Given the description of an element on the screen output the (x, y) to click on. 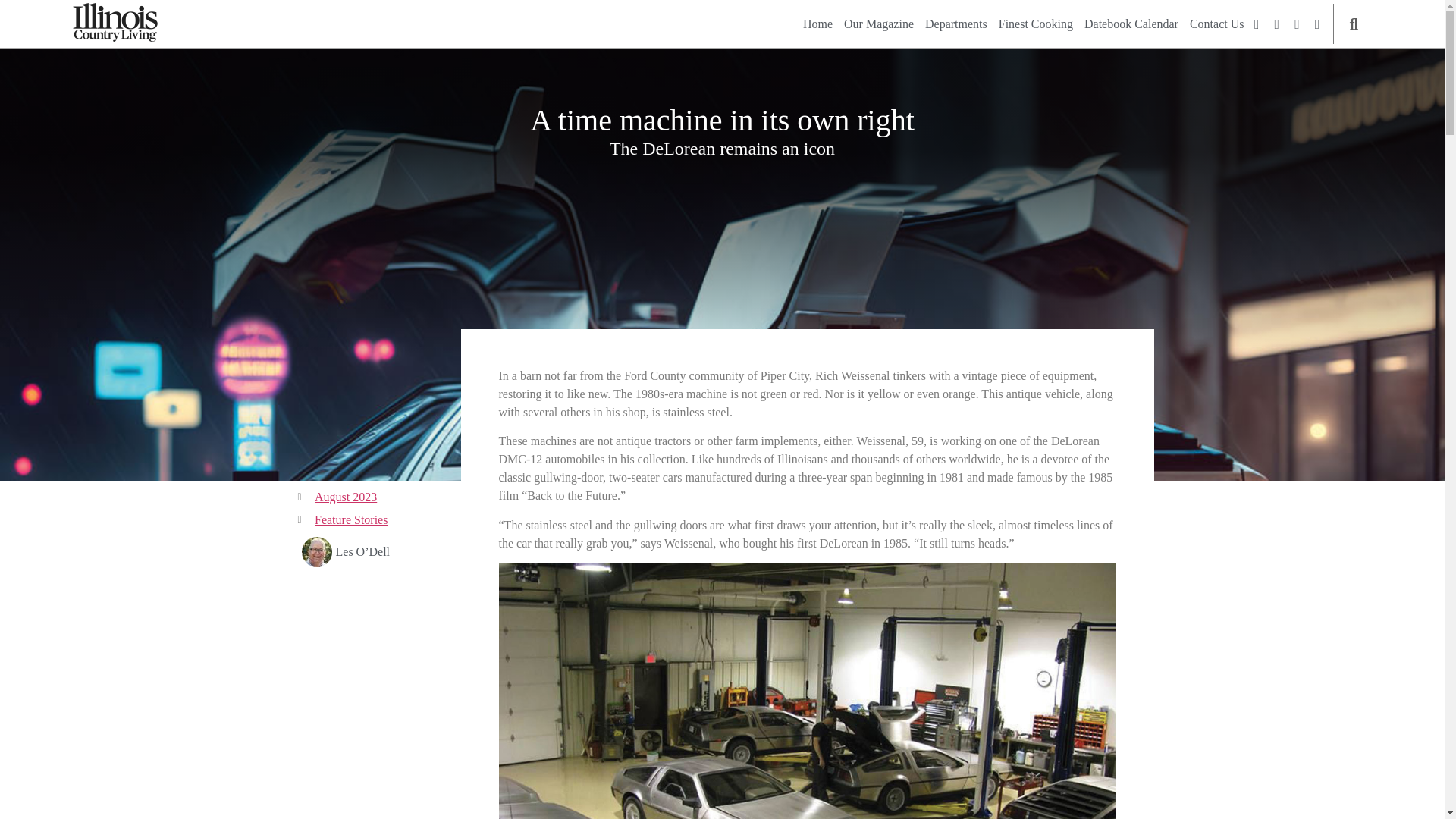
Datebook Calendar (1131, 24)
ICL-logo-blk (114, 22)
Our Magazine (879, 24)
Departments (955, 24)
Home (817, 24)
Finest Cooking (1035, 24)
Contact Us (1217, 24)
